Given the description of an element on the screen output the (x, y) to click on. 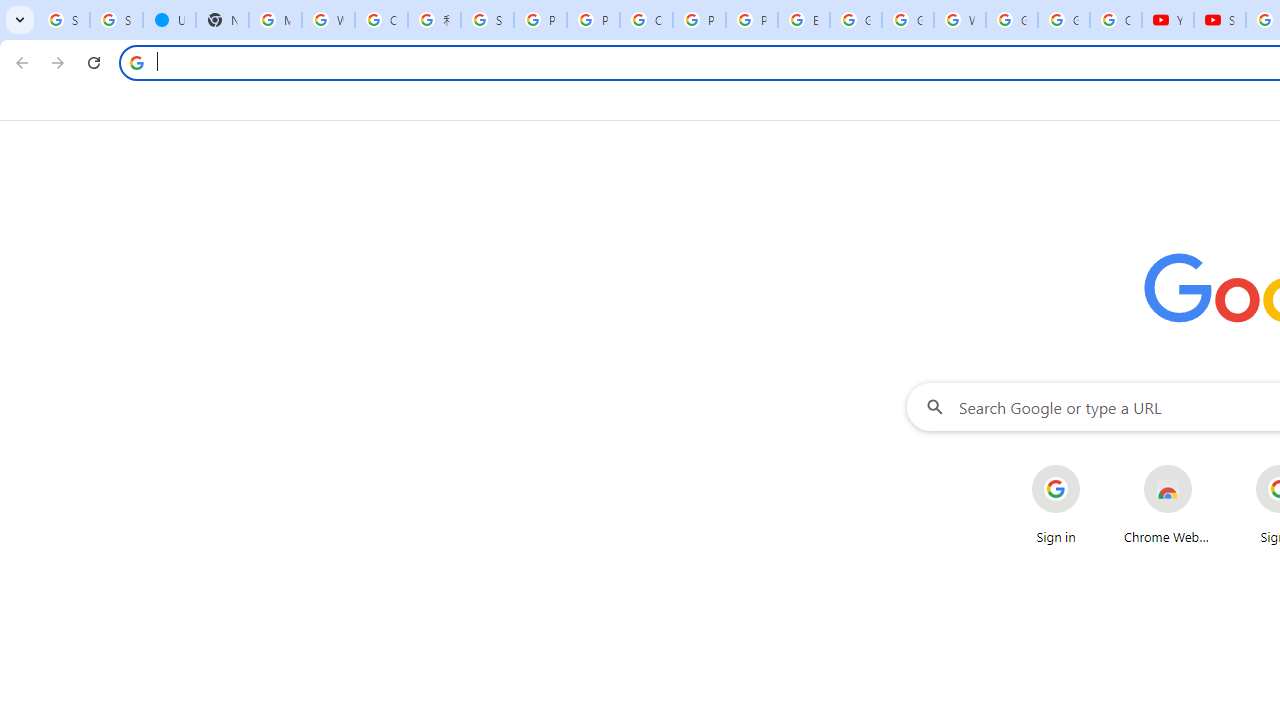
USA TODAY (169, 20)
Edit and view right-to-left text - Google Docs Editors Help (803, 20)
Google Slides: Sign-in (855, 20)
Create your Google Account (646, 20)
Chrome Web Store (1167, 504)
